Given the description of an element on the screen output the (x, y) to click on. 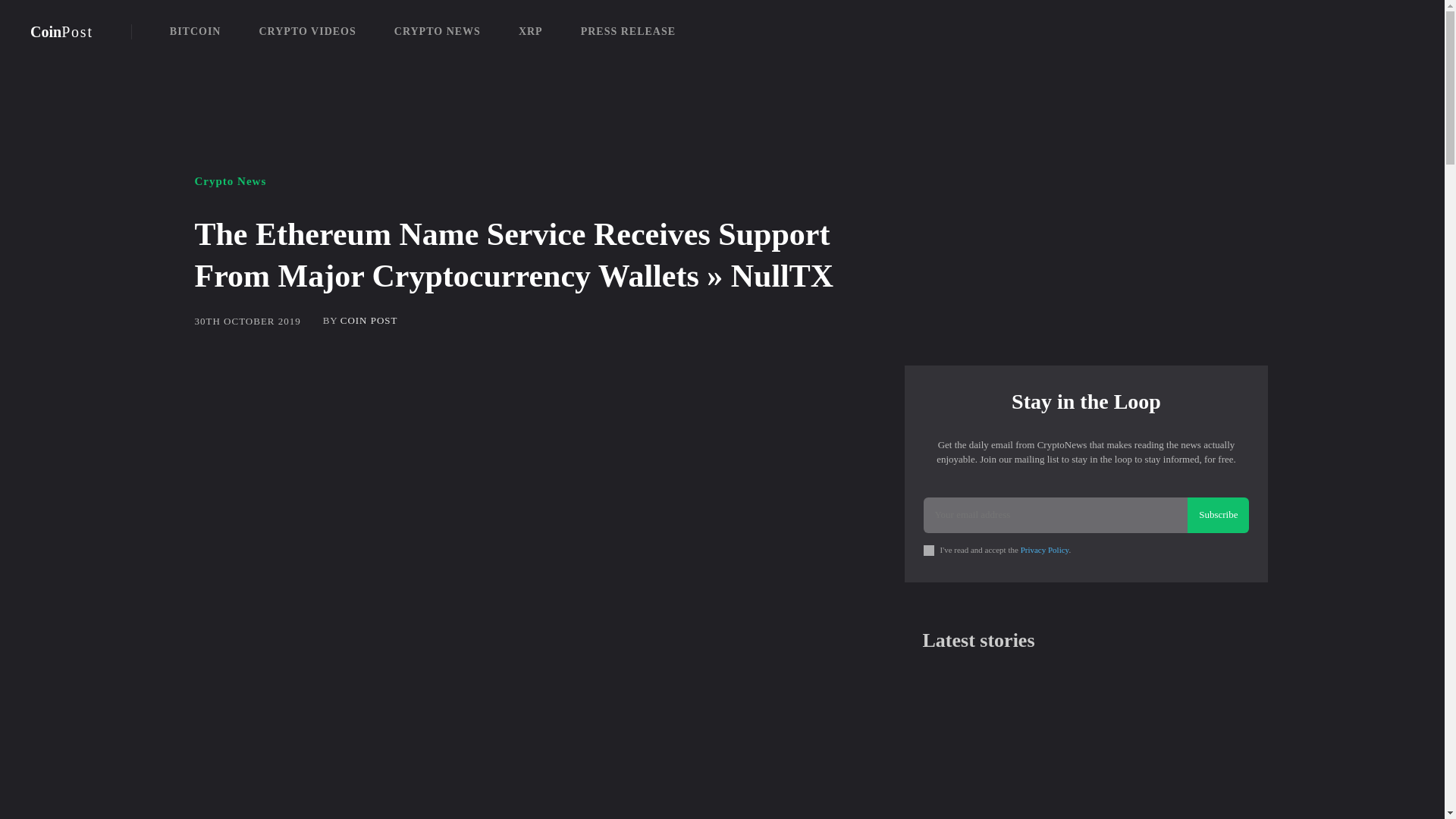
PRESS RELEASE (627, 31)
Crypto News (229, 181)
CRYPTO VIDEOS (307, 31)
COIN POST (61, 31)
CharacterX Evolution: Key Changes and Path Forward (368, 320)
CRYPTO NEWS (1085, 750)
Privacy Policy (437, 31)
Subscribe (1044, 549)
